Given the description of an element on the screen output the (x, y) to click on. 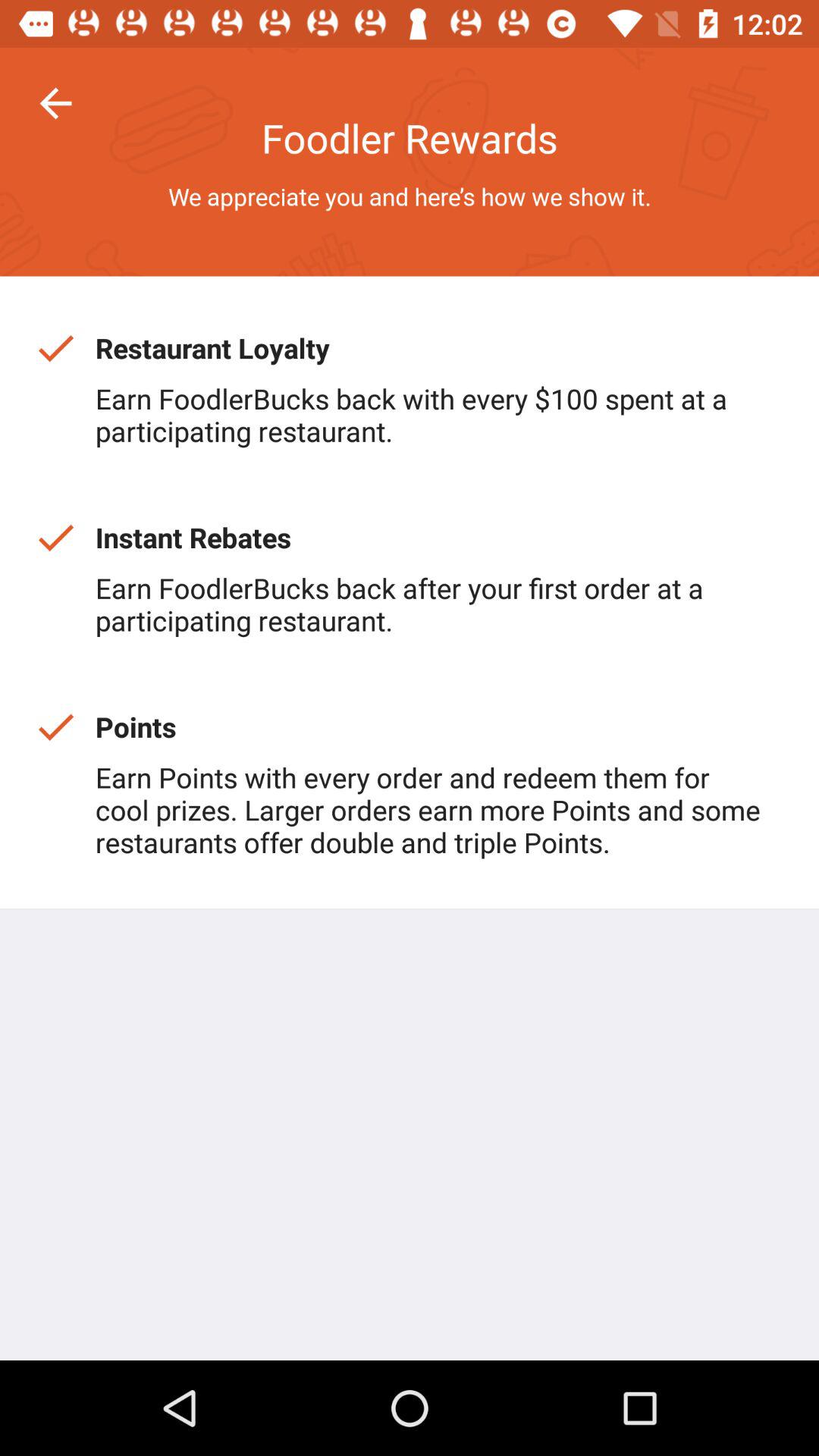
click icon above the we appreciate you icon (55, 103)
